Given the description of an element on the screen output the (x, y) to click on. 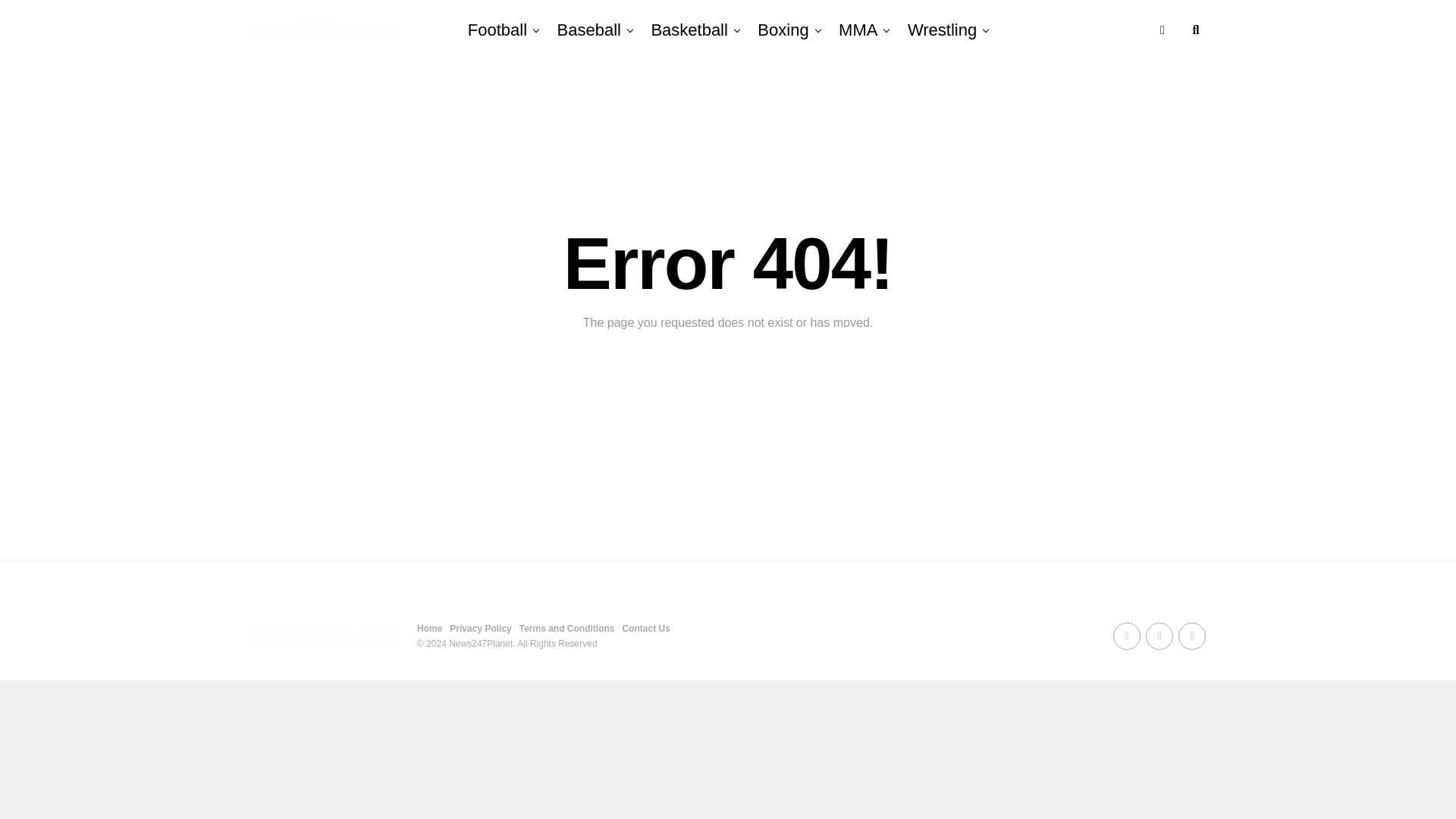
Boxing (782, 30)
Football (497, 30)
Basketball (689, 30)
Baseball (589, 30)
